Given the description of an element on the screen output the (x, y) to click on. 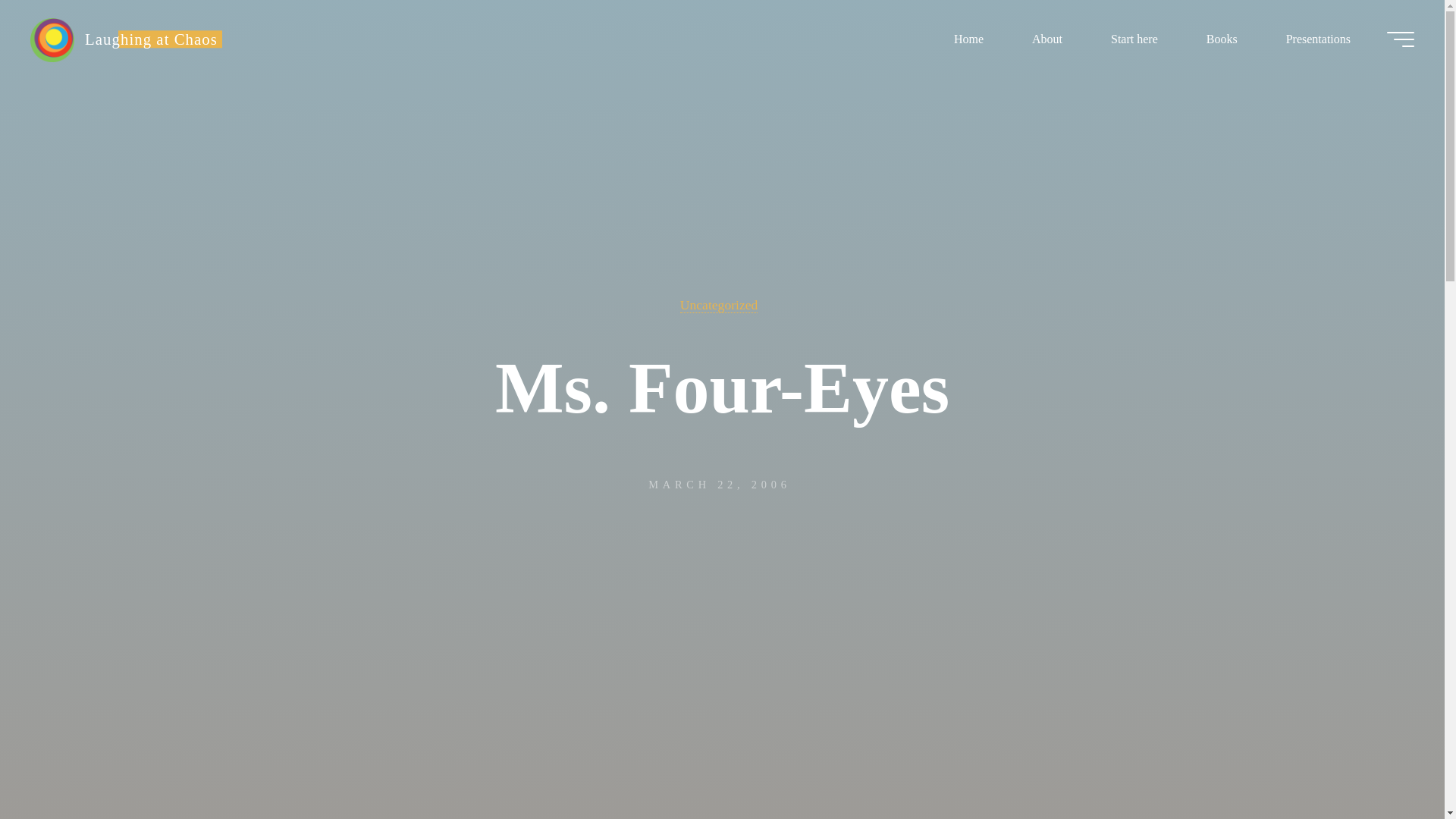
Laughing at Chaos (52, 38)
Laughing at Chaos (151, 38)
Start here (1134, 38)
Uncategorized (718, 304)
where wildly different is perfectly normal (151, 38)
Books (1222, 38)
Presentations (1318, 38)
About (1046, 38)
Read more (721, 724)
Home (968, 38)
